Given the description of an element on the screen output the (x, y) to click on. 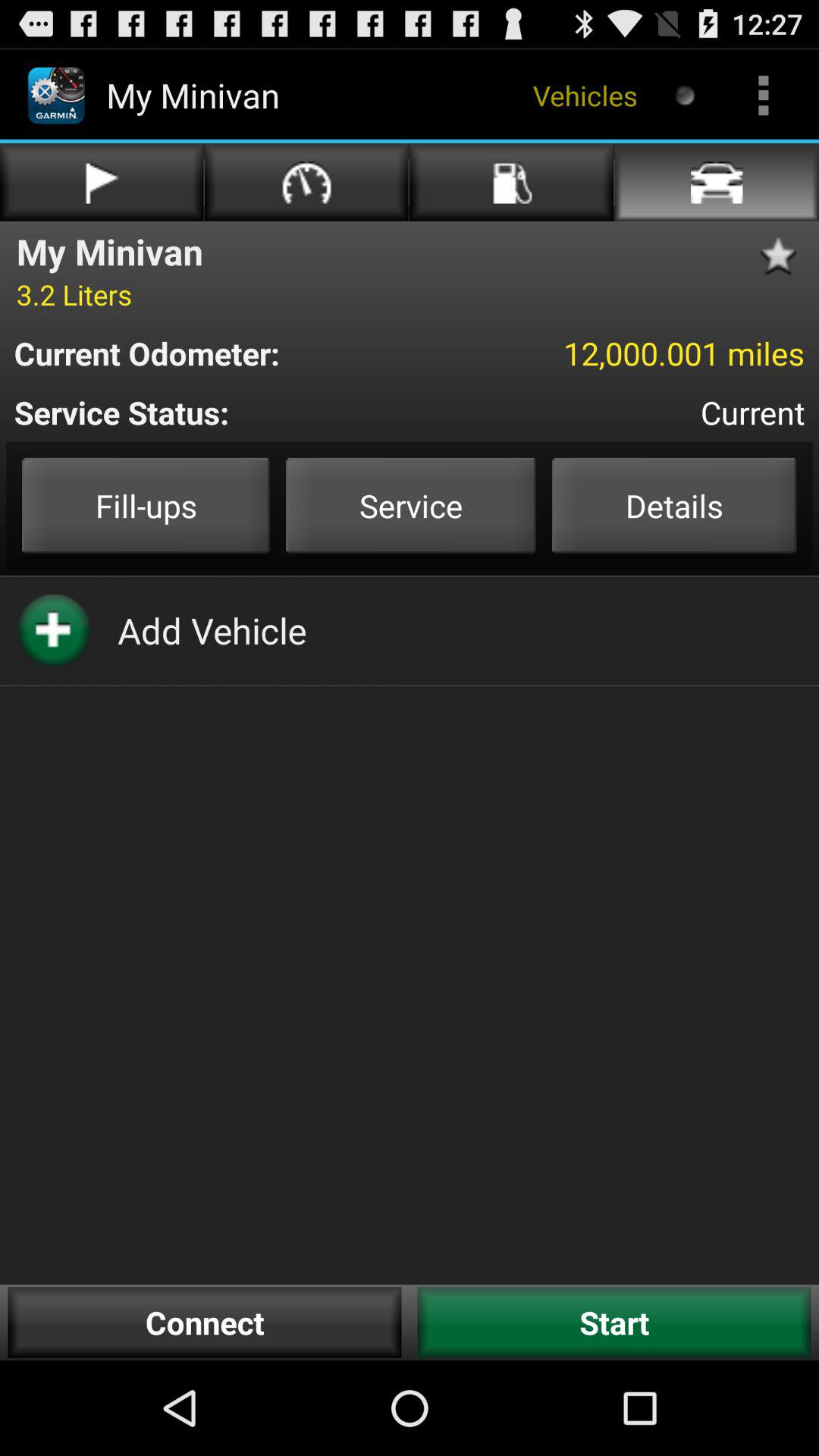
click on the star symbol above 12000001 miles (783, 255)
click the button on the bottom left corner of the web page (205, 1322)
select the logo on the top left corner of the web page (55, 95)
click on fillups (146, 505)
click on plus icon (54, 630)
click on the button next to service (674, 505)
click on the second option in first row (306, 181)
click the button details on the web page (674, 505)
click on the button having the text service (410, 505)
click on car icon right to fuel icon (717, 181)
click on the button next to vehicles (685, 94)
